Given the description of an element on the screen output the (x, y) to click on. 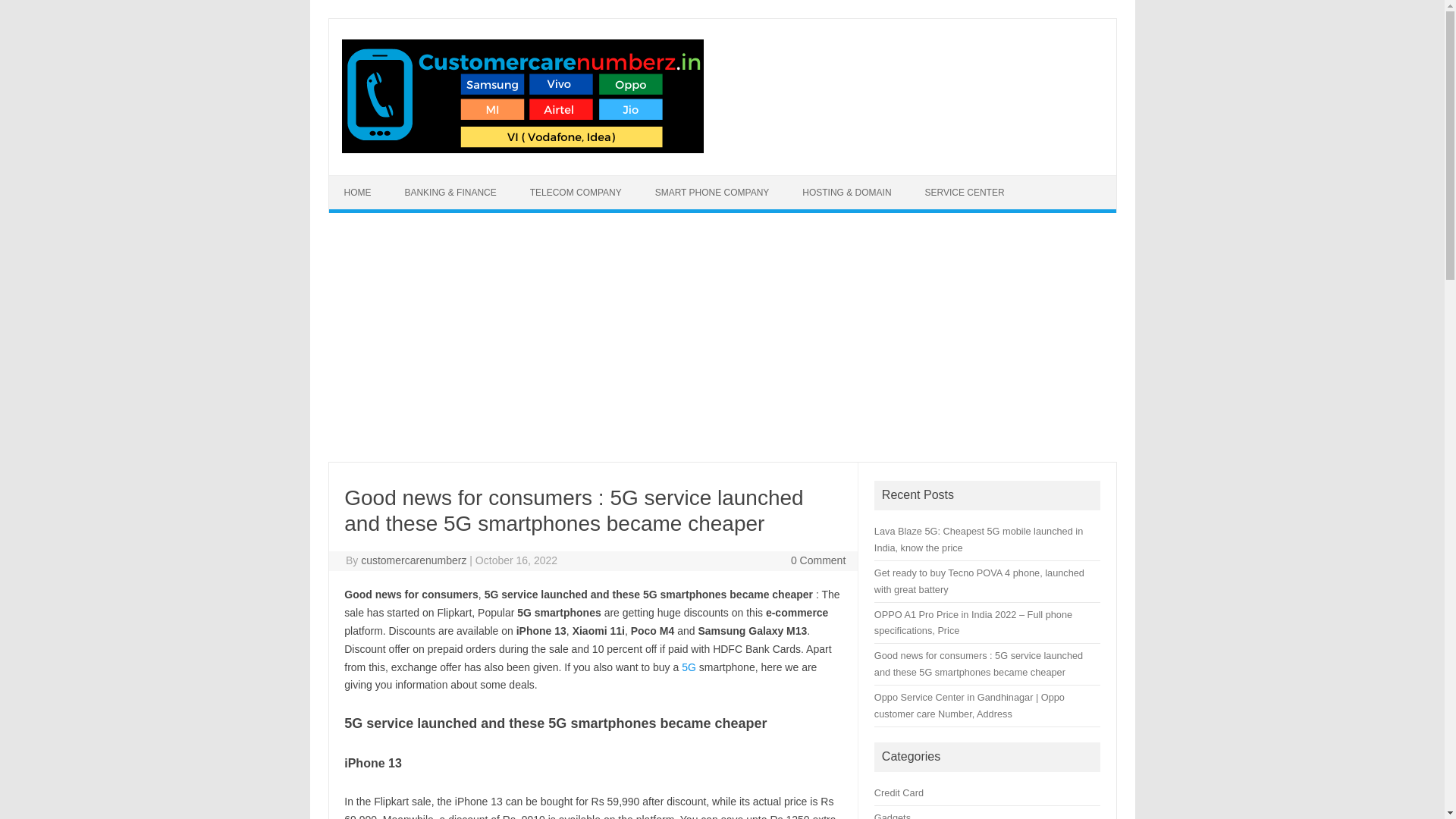
5G (688, 666)
SMART PHONE COMPANY (712, 192)
Credit Card (899, 792)
Skip to content (363, 180)
Gadgets (893, 815)
Skip to content (363, 180)
TELECOM COMPANY (576, 192)
Customer Care Number (521, 149)
Posts by customercarenumberz (413, 560)
SERVICE CENTER (963, 192)
0 Comment (817, 560)
